Given the description of an element on the screen output the (x, y) to click on. 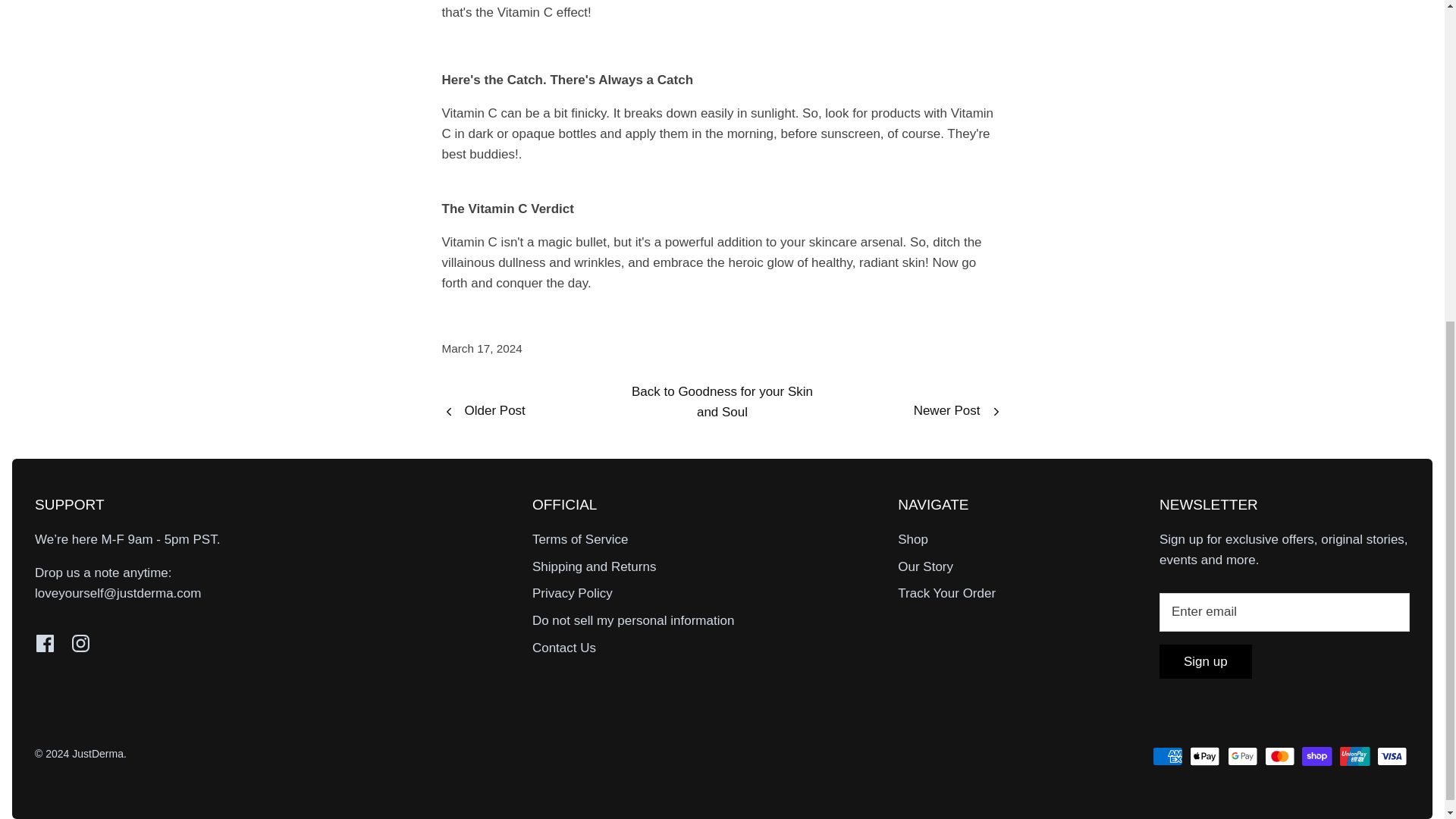
Shipping and Returns (594, 566)
Apple Pay (1204, 755)
Visa (1391, 755)
Do not sell my personal information (632, 620)
Older Post (482, 411)
Facebook (44, 642)
Union Pay (1354, 755)
Privacy Policy (572, 593)
Newer Post (958, 411)
Mastercard (1279, 755)
American Express (1167, 755)
Instagram (79, 642)
Terms of Service (580, 539)
Instagram (80, 643)
Google Pay (1242, 755)
